Given the description of an element on the screen output the (x, y) to click on. 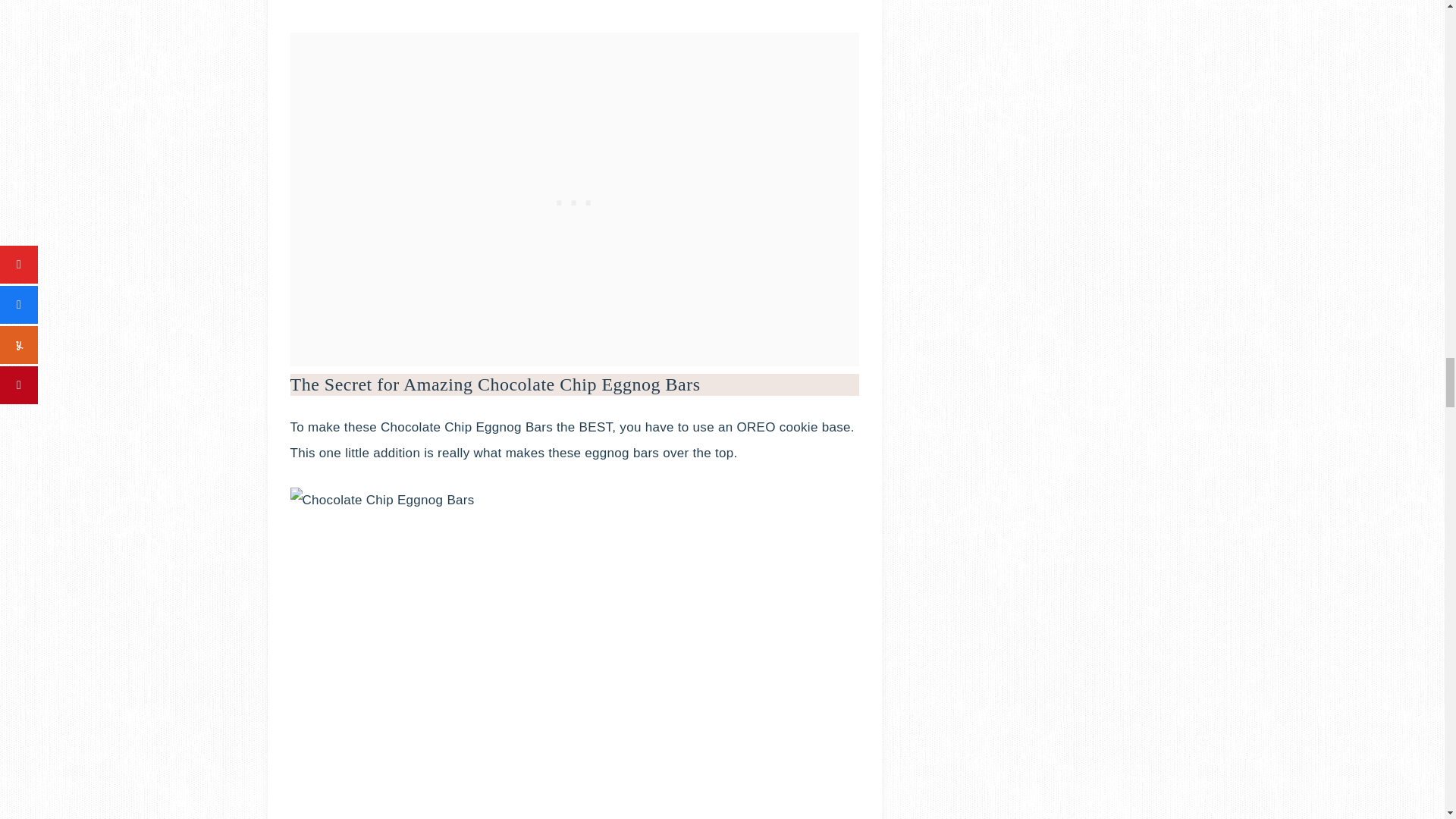
How to make the perfect Chocolate Chip Eggnog Bars 19 (574, 5)
